Given the description of an element on the screen output the (x, y) to click on. 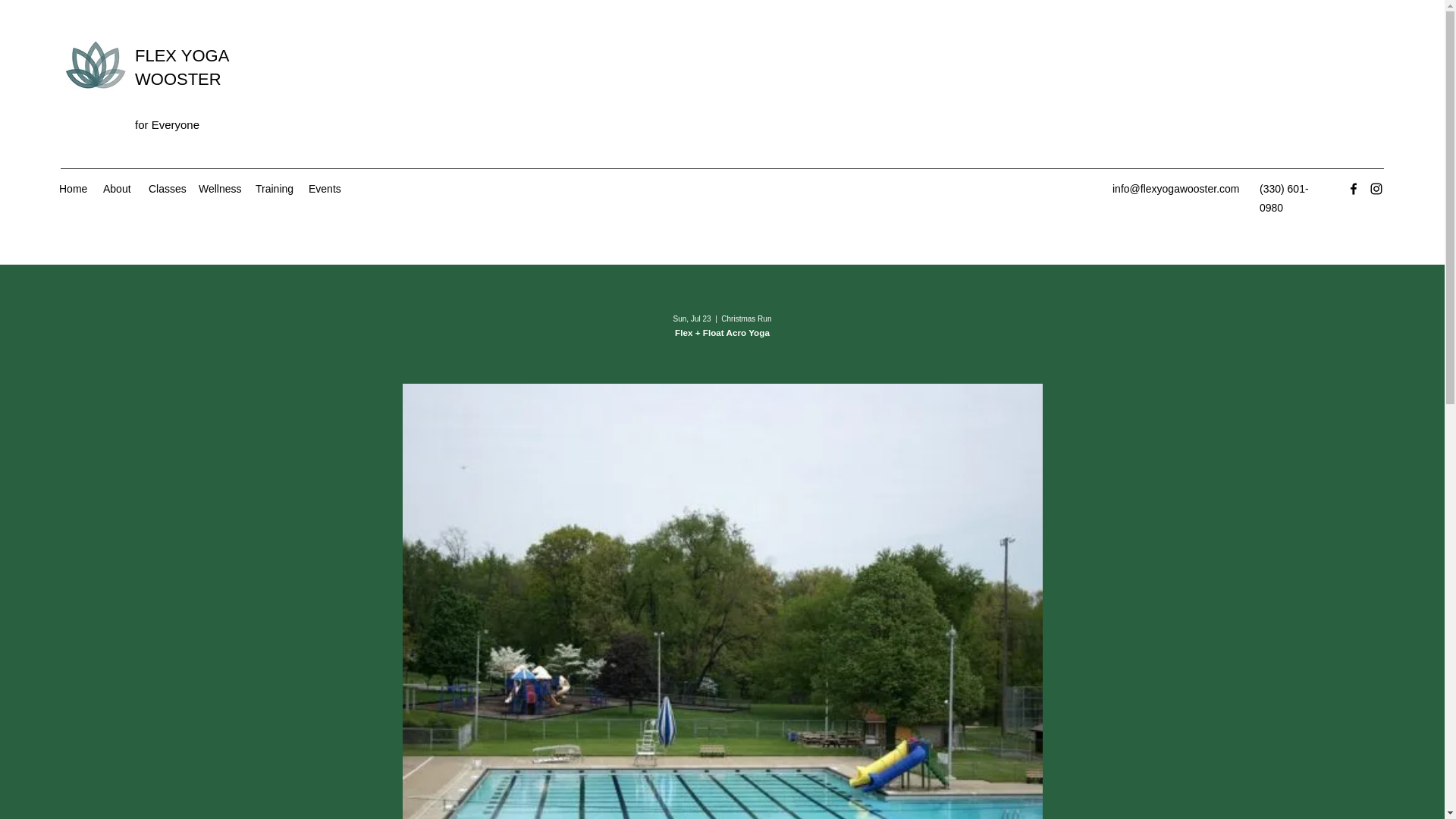
Classes (165, 188)
Home (73, 188)
Events (324, 188)
FLEX YOGA WOOSTER (181, 66)
Training (274, 188)
About (118, 188)
Wellness (218, 188)
